Given the description of an element on the screen output the (x, y) to click on. 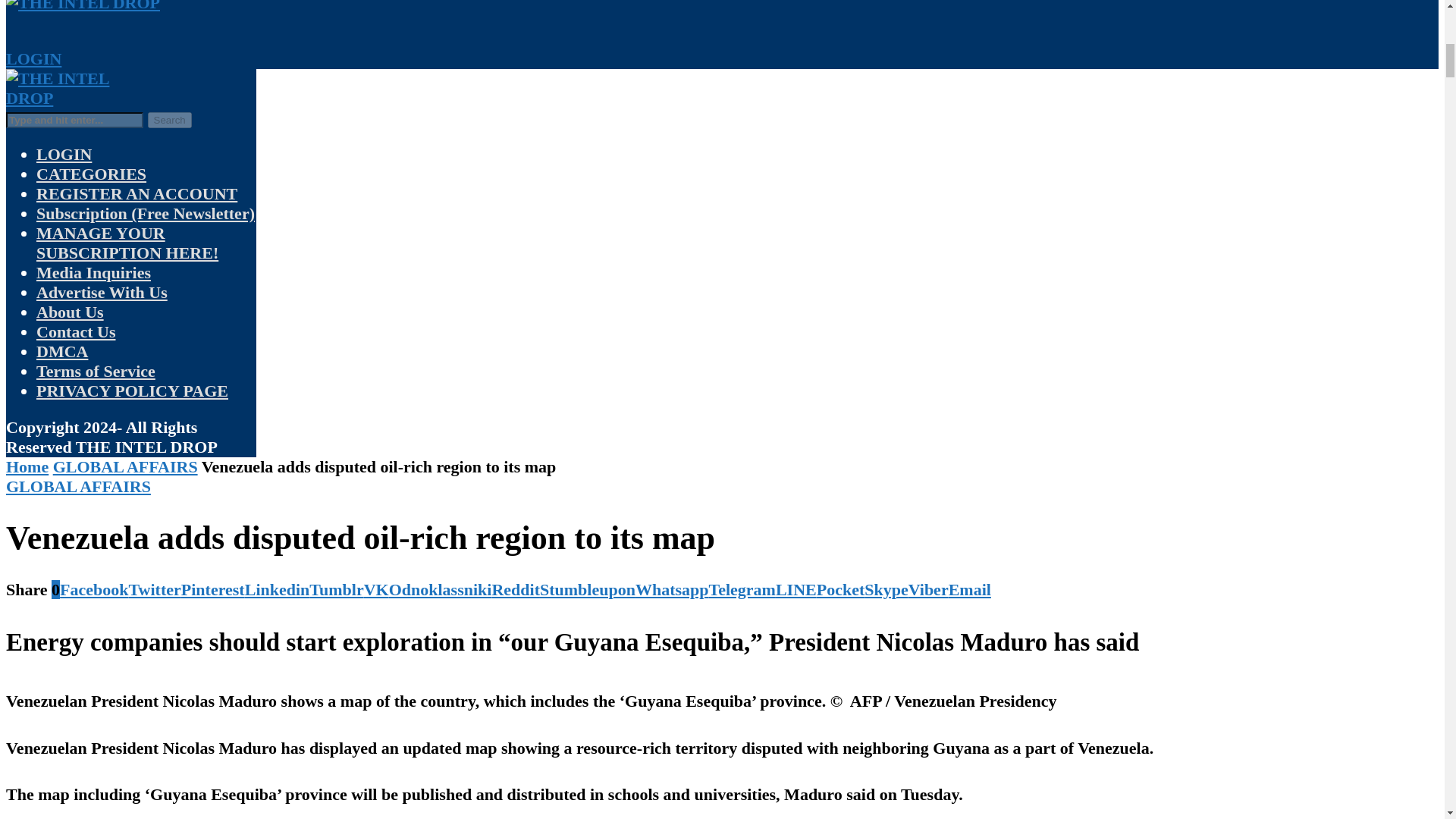
Terms of Service (95, 370)
Contact Us (76, 331)
Search (168, 119)
LOGIN (33, 58)
Media Inquiries (93, 271)
CATEGORIES (91, 173)
PRIVACY POLICY PAGE (132, 390)
LOGIN (63, 153)
Advertise With Us (101, 292)
DMCA (61, 351)
